Given the description of an element on the screen output the (x, y) to click on. 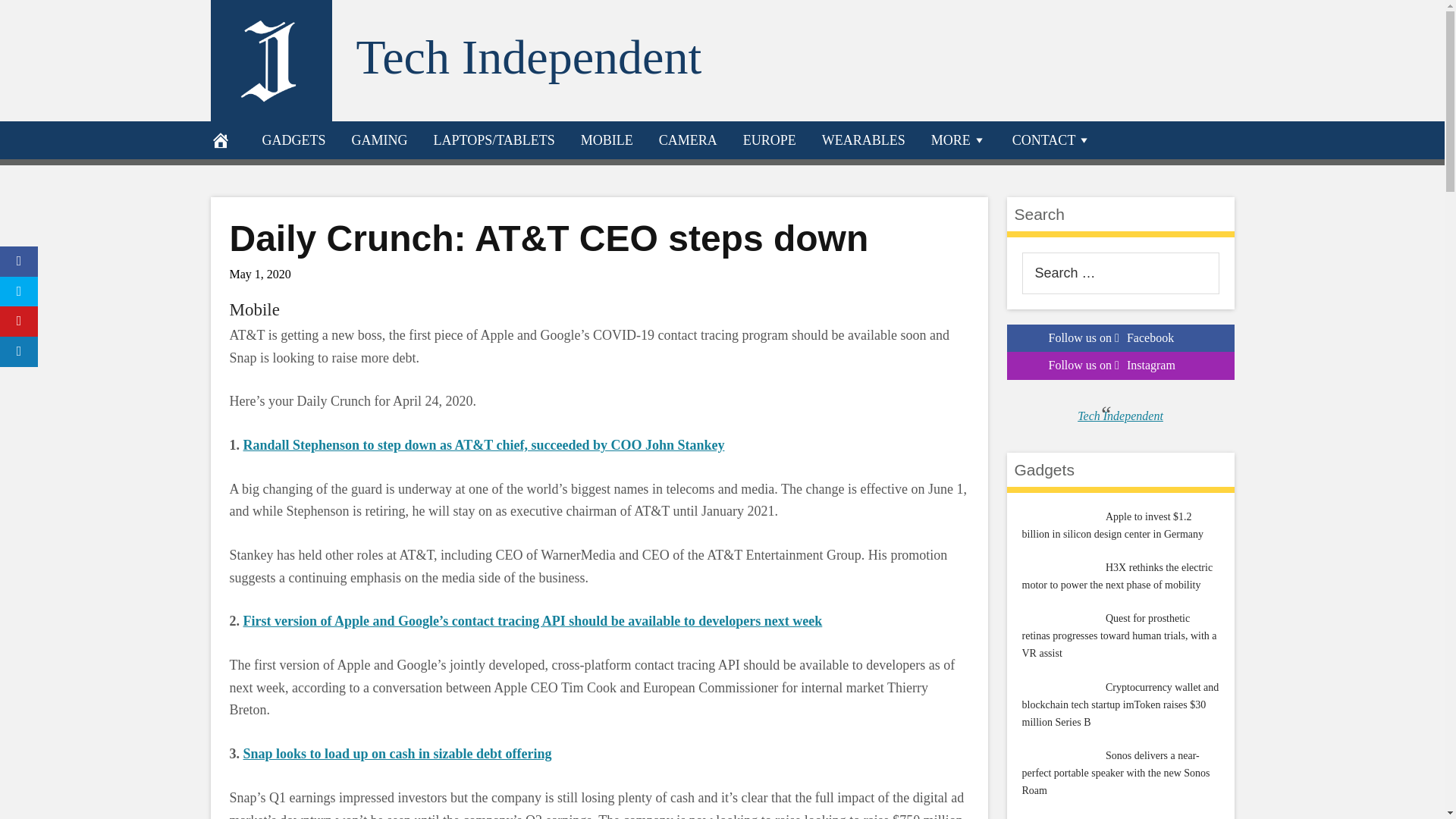
WEARABLES (863, 139)
MORE (958, 139)
MOBILE (606, 139)
EUROPE (769, 139)
Tech Independent (528, 57)
GADGETS (292, 139)
CAMERA (688, 139)
GAMING (378, 139)
Mobile (253, 309)
